Given the description of an element on the screen output the (x, y) to click on. 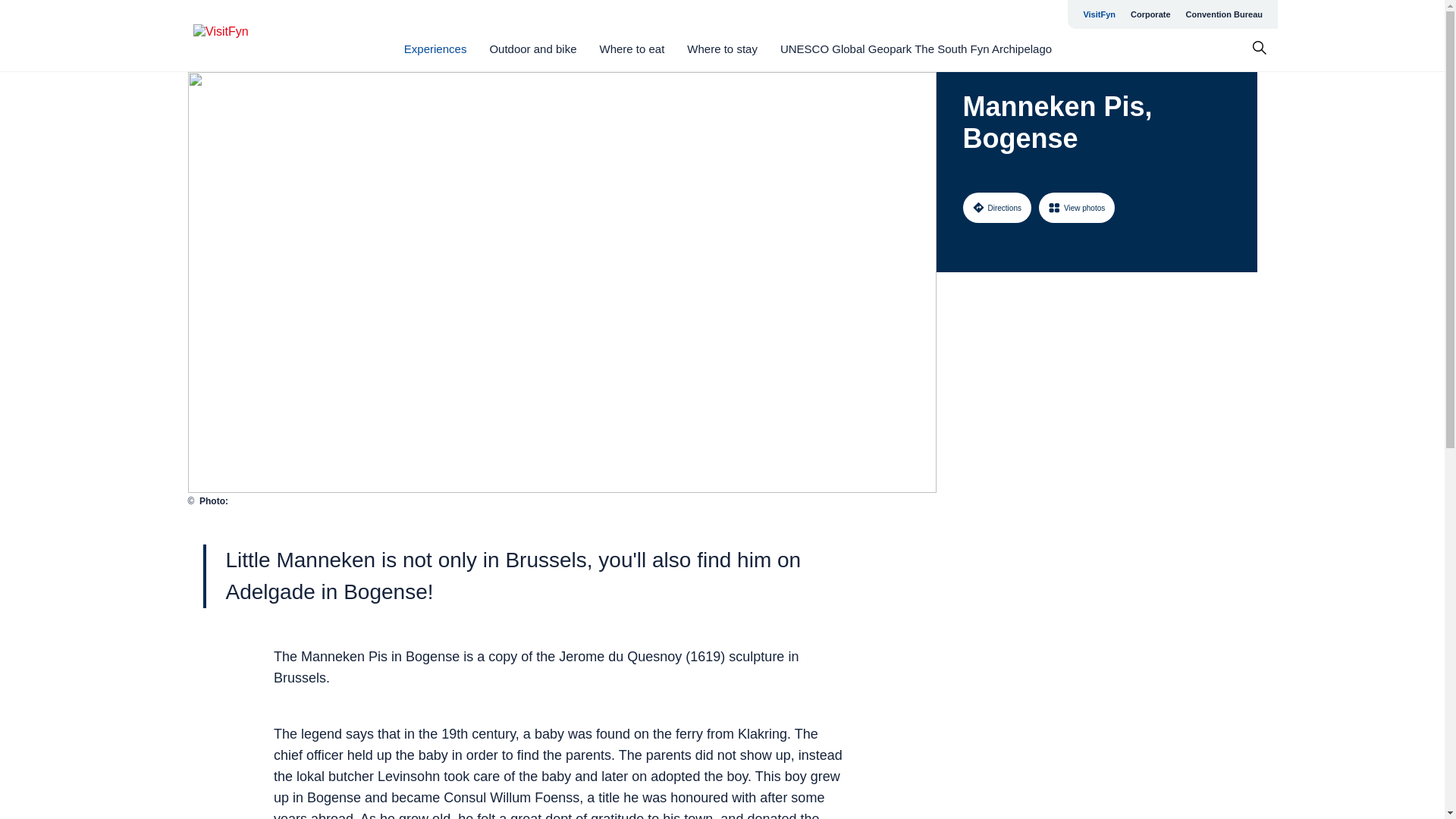
View photos (1077, 207)
Directions (996, 207)
Outdoor and bike (532, 48)
Experiences (435, 48)
Go to homepage (253, 35)
Convention Bureau (1223, 14)
VisitFyn (1098, 14)
Where to stay (722, 48)
UNESCO Global Geopark The South Fyn Archipelago (915, 48)
Where to eat (630, 48)
